Given the description of an element on the screen output the (x, y) to click on. 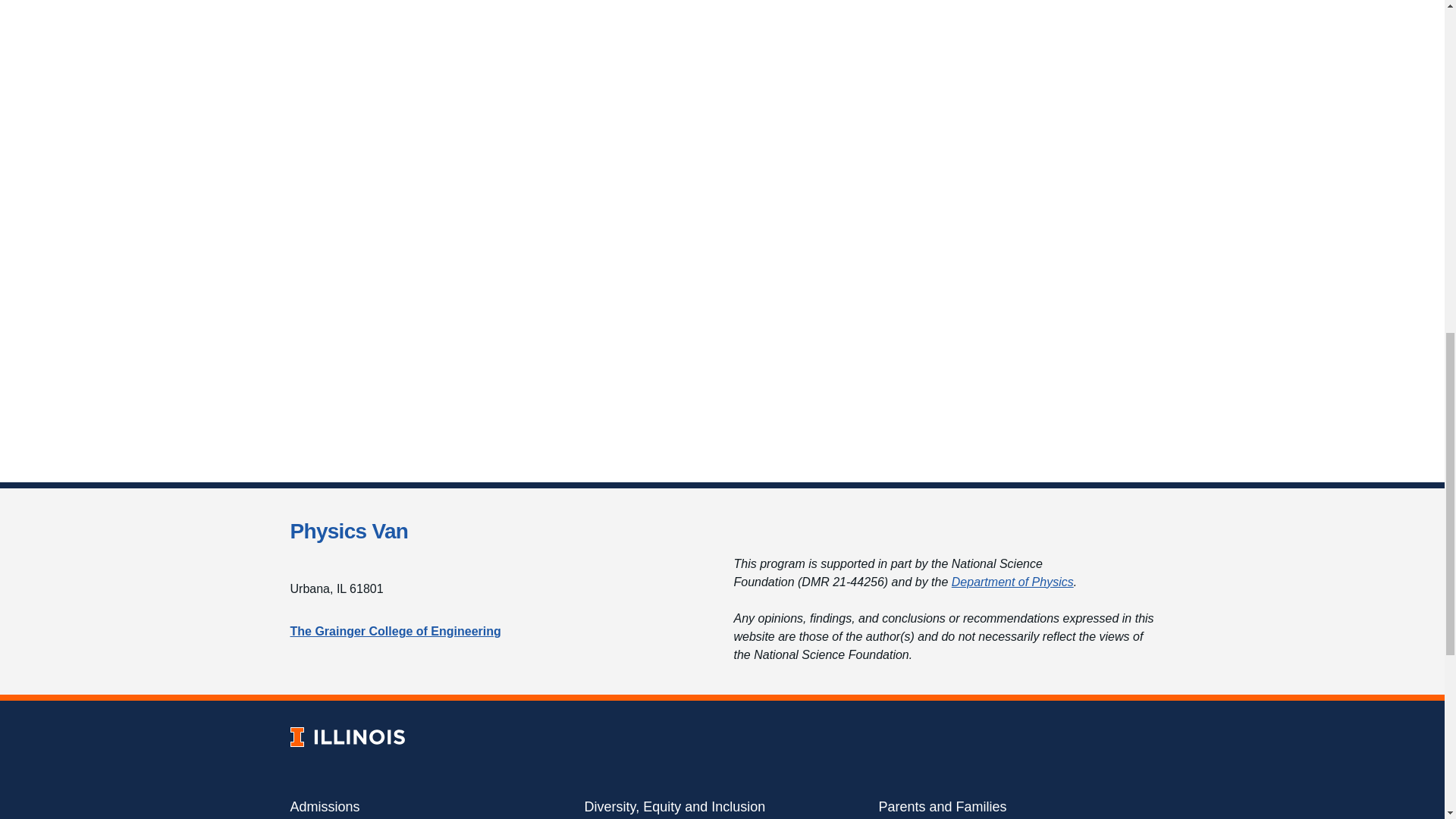
Physics Van (348, 530)
